Given the description of an element on the screen output the (x, y) to click on. 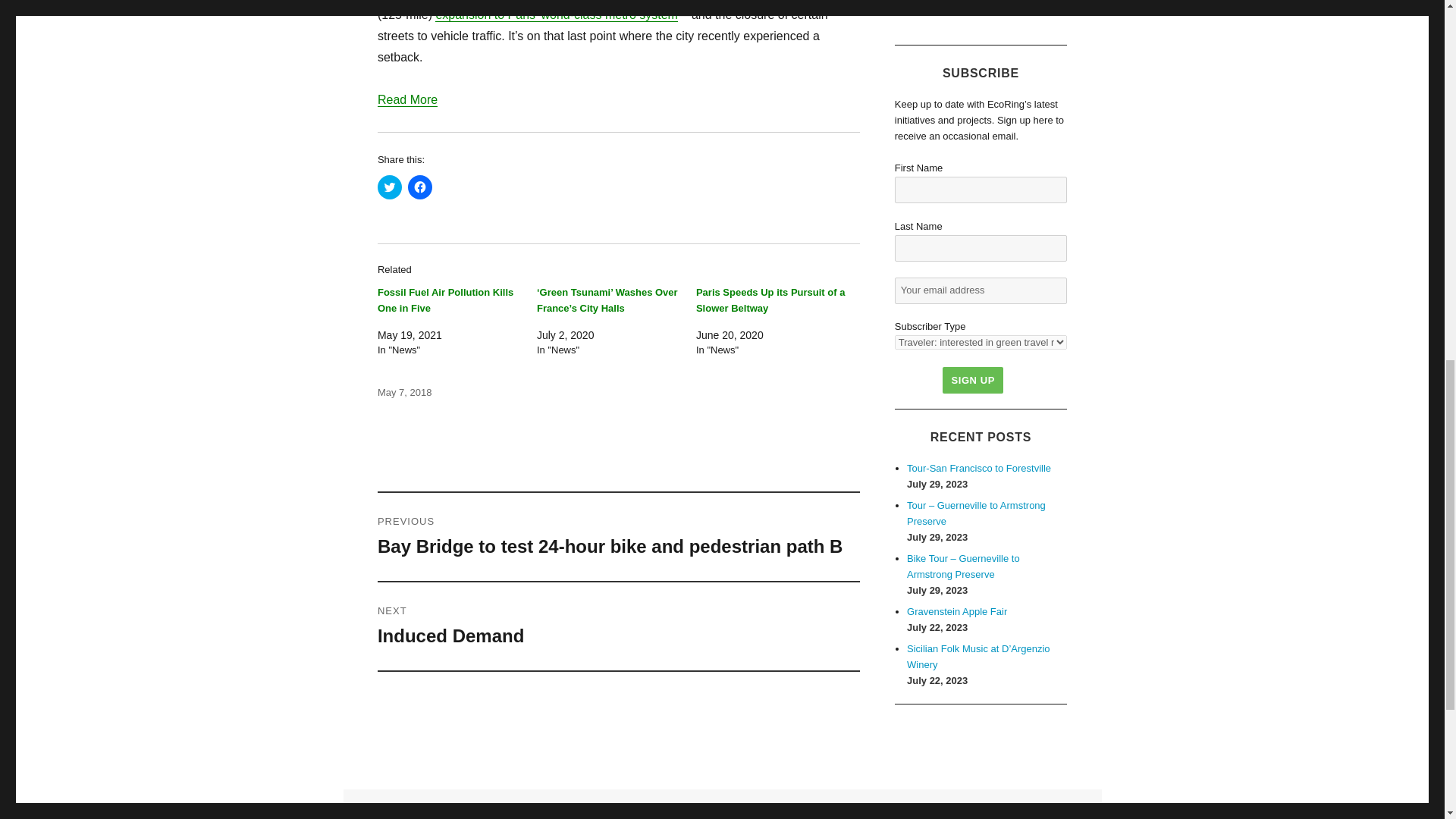
Fossil Fuel Air Pollution Kills One in Five (445, 299)
Click to share on Facebook (419, 187)
PayPal - The safer, easier way to pay online! (979, 1)
Sign up (972, 379)
Click to share on Twitter (389, 187)
Paris Speeds Up its Pursuit of a Slower Beltway (770, 299)
